Given the description of an element on the screen output the (x, y) to click on. 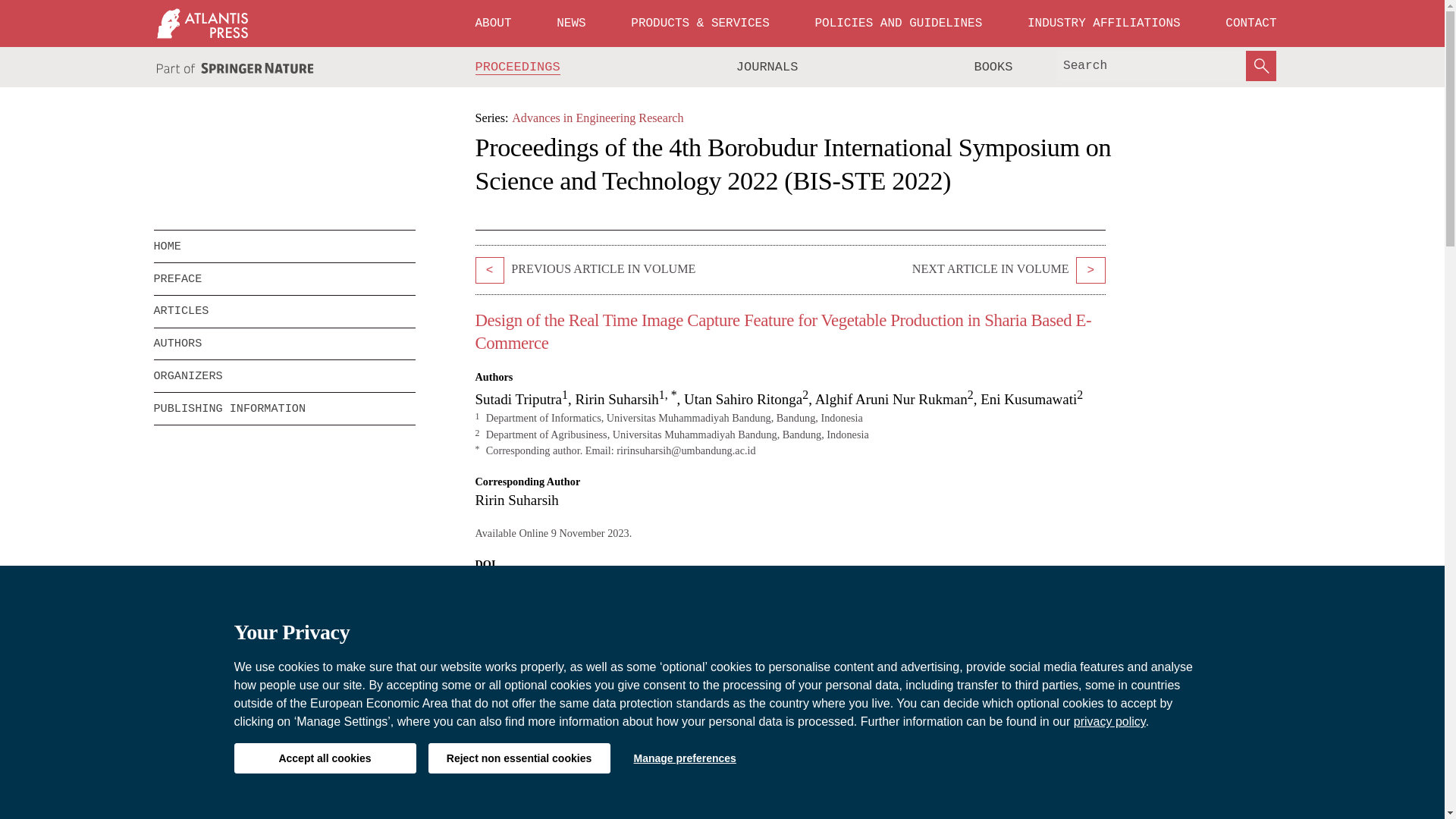
ABOUT (493, 23)
ORGANIZERS (283, 376)
Manage preferences (683, 757)
PROCEEDINGS (518, 66)
High Performance Oven for Coconut Shell Charcoal Briquetting (1090, 270)
PREFACE (283, 278)
Advances in Engineering Research (597, 117)
ARTICLES (283, 311)
privacy policy (1109, 721)
CONTACT (1250, 23)
